Given the description of an element on the screen output the (x, y) to click on. 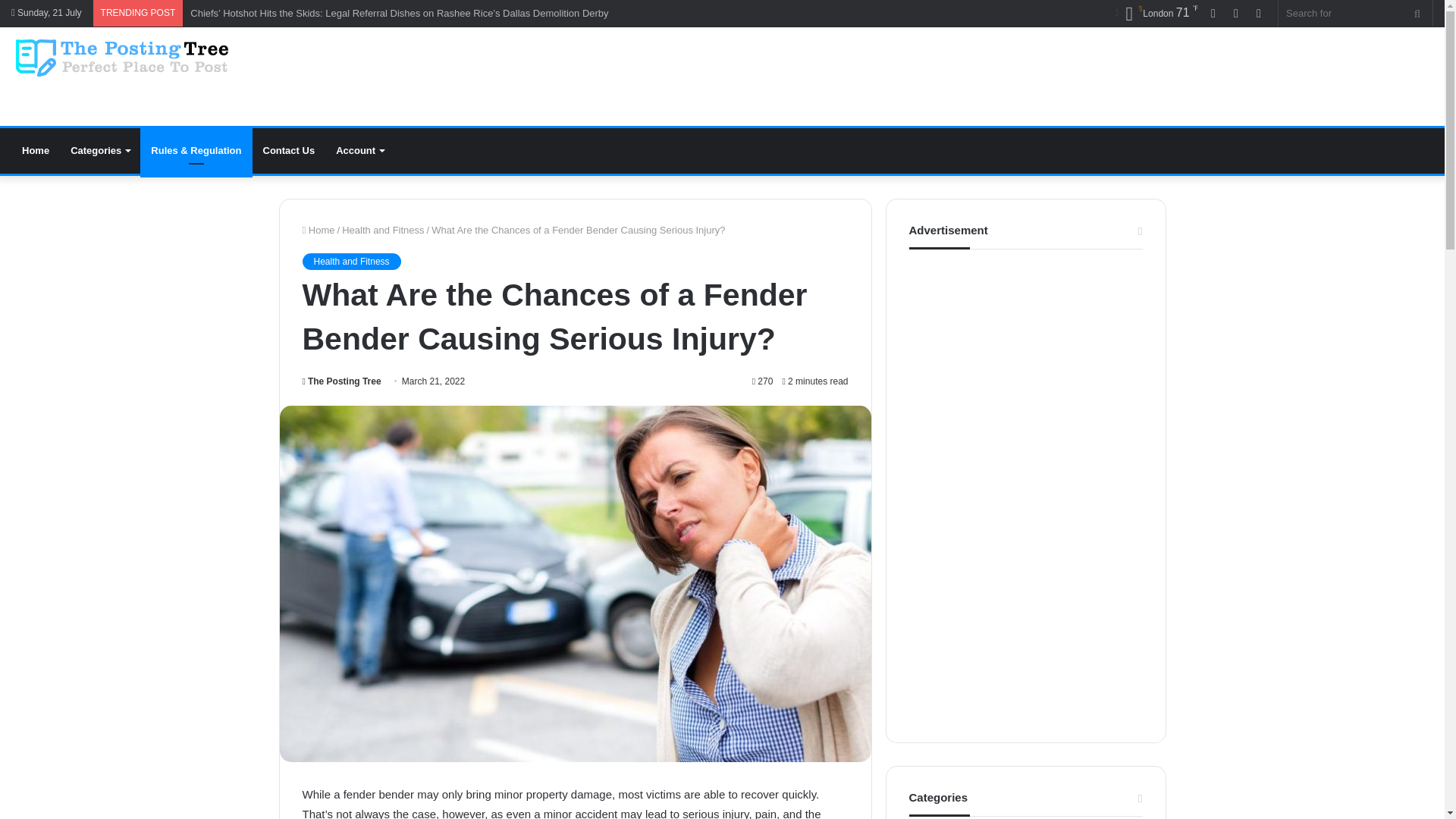
The Posting Tree (340, 380)
Categories (99, 150)
Contact Us (288, 150)
Home (317, 229)
Search for (1417, 13)
Health and Fitness (350, 261)
Scattered Clouds (1156, 13)
The Posting Tree (119, 57)
Search for (1355, 13)
Health and Fitness (382, 229)
The Posting Tree (340, 380)
Home (35, 150)
Account (359, 150)
